Given the description of an element on the screen output the (x, y) to click on. 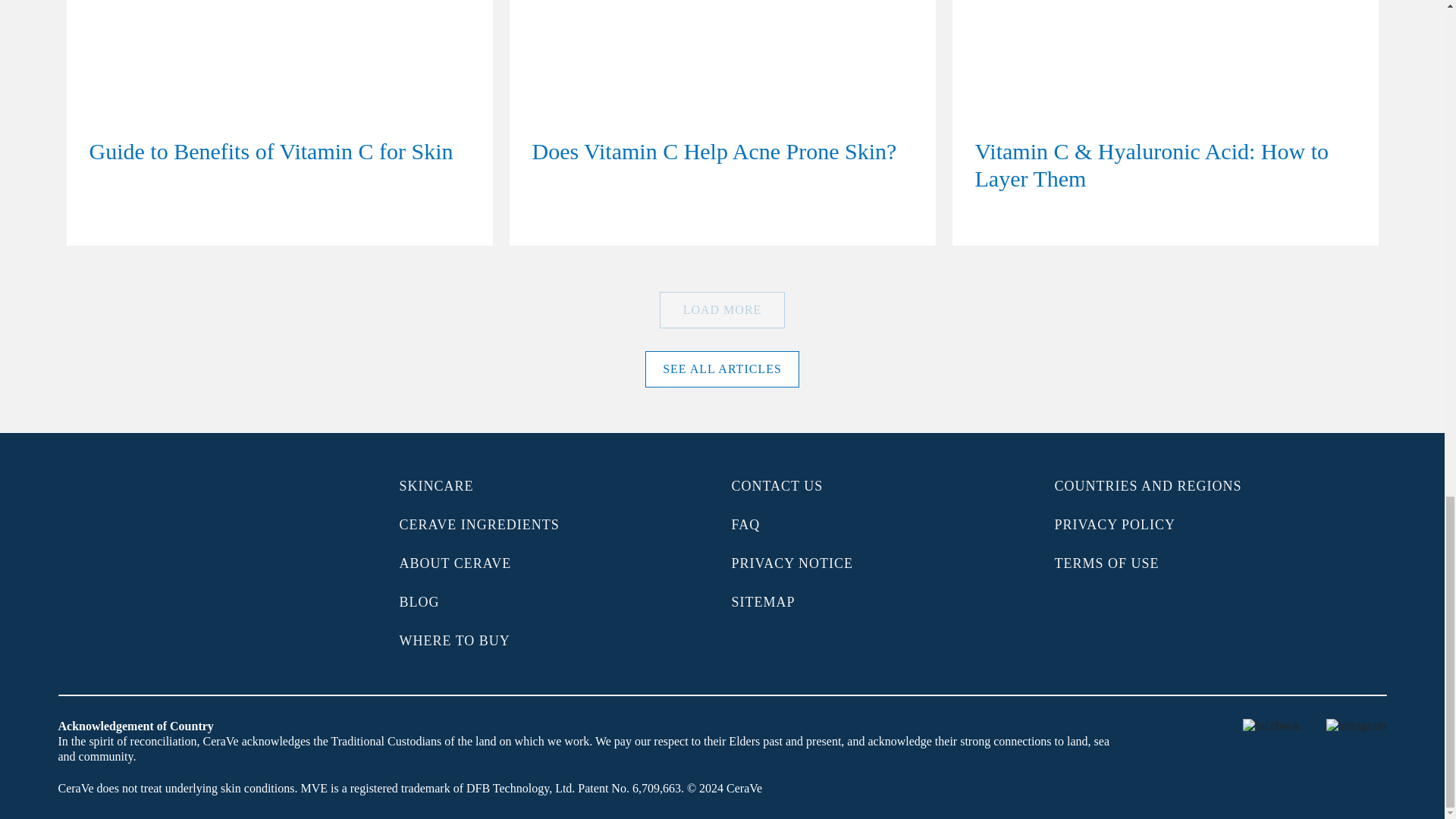
hyaluronic acid and vitamin c (1164, 123)
benefits of vitamin c (279, 123)
vitamin c for acne (722, 123)
